Given the description of an element on the screen output the (x, y) to click on. 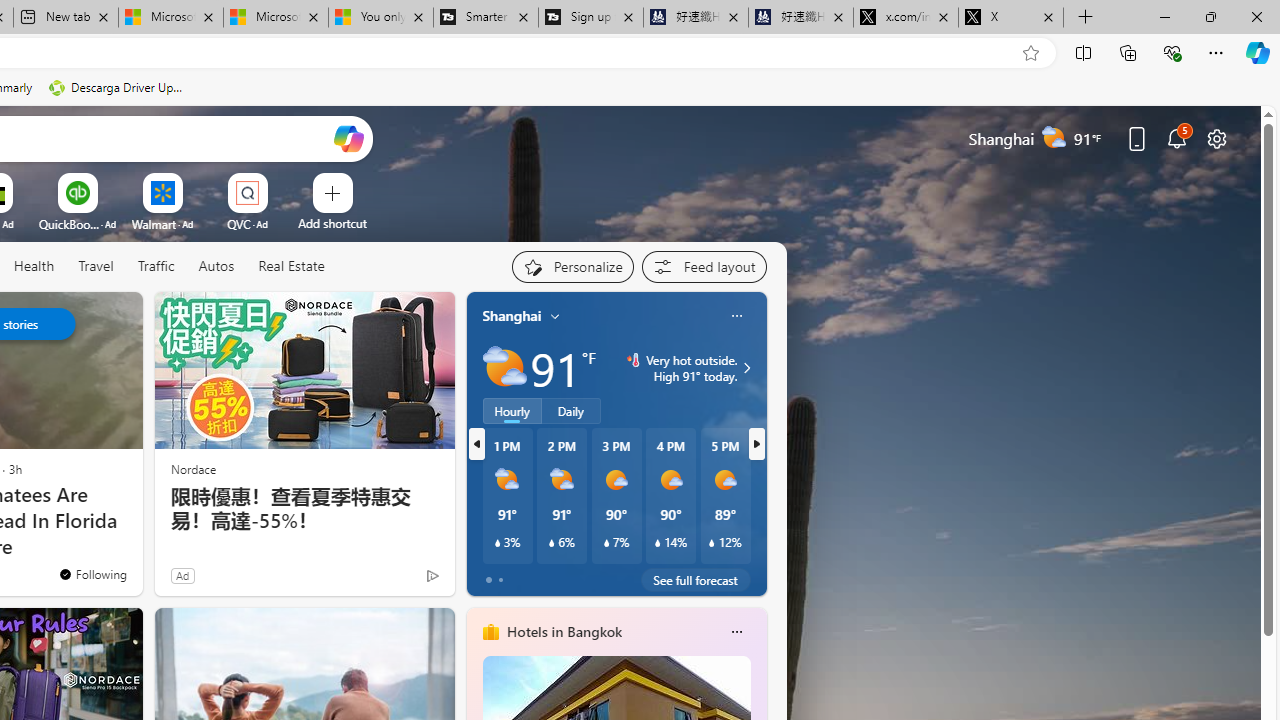
My location (555, 315)
next (756, 443)
Real Estate (290, 267)
tab-1 (500, 579)
Health (34, 265)
previous (476, 443)
Real Estate (291, 265)
Class: icon-img (736, 632)
